Given the description of an element on the screen output the (x, y) to click on. 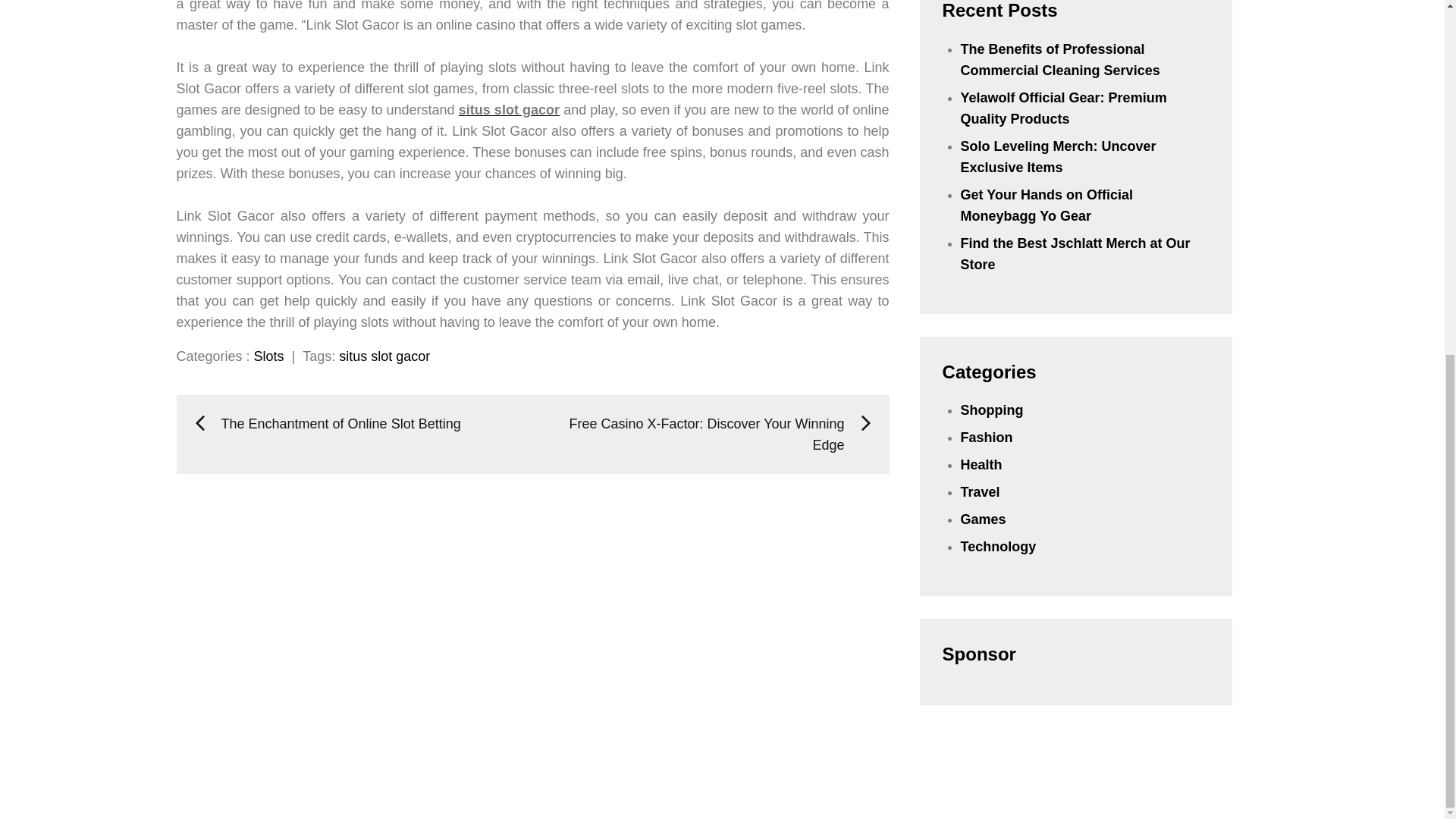
Games (983, 519)
Health (981, 464)
Find the Best Jschlatt Merch at Our Store (1075, 253)
situs slot gacor (508, 109)
The Benefits of Professional Commercial Cleaning Services (1060, 59)
Travel (980, 491)
Fashion (986, 437)
Technology (998, 546)
Shopping (991, 409)
Slots (268, 355)
Solo Leveling Merch: Uncover Exclusive Items (1058, 156)
situs slot gacor (384, 355)
Yelawolf Official Gear: Premium Quality Products (1063, 108)
Get Your Hands on Official Moneybagg Yo Gear (1046, 205)
